Given the description of an element on the screen output the (x, y) to click on. 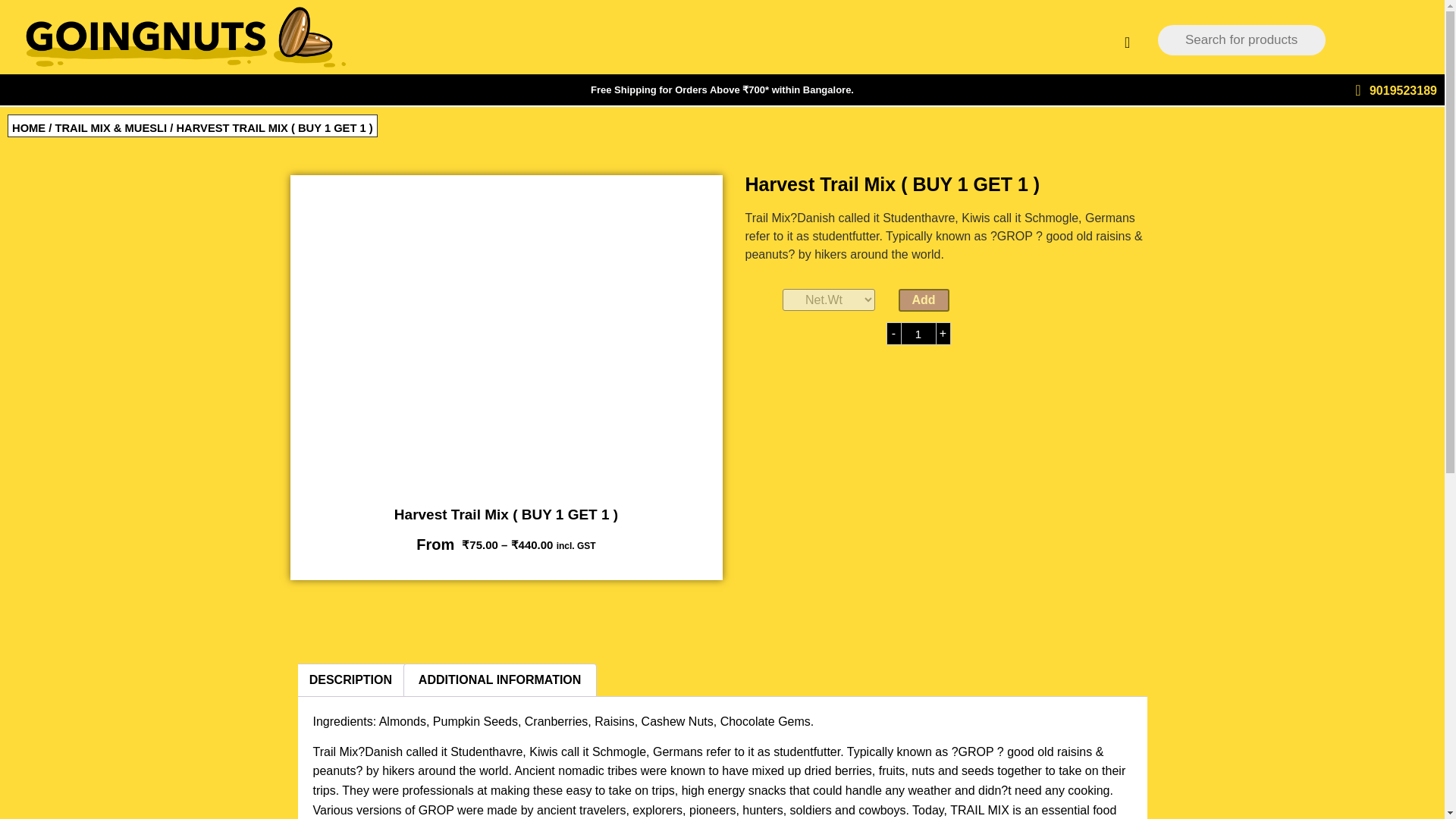
Qty (917, 333)
9019523189 (1403, 90)
1 (917, 333)
